Given the description of an element on the screen output the (x, y) to click on. 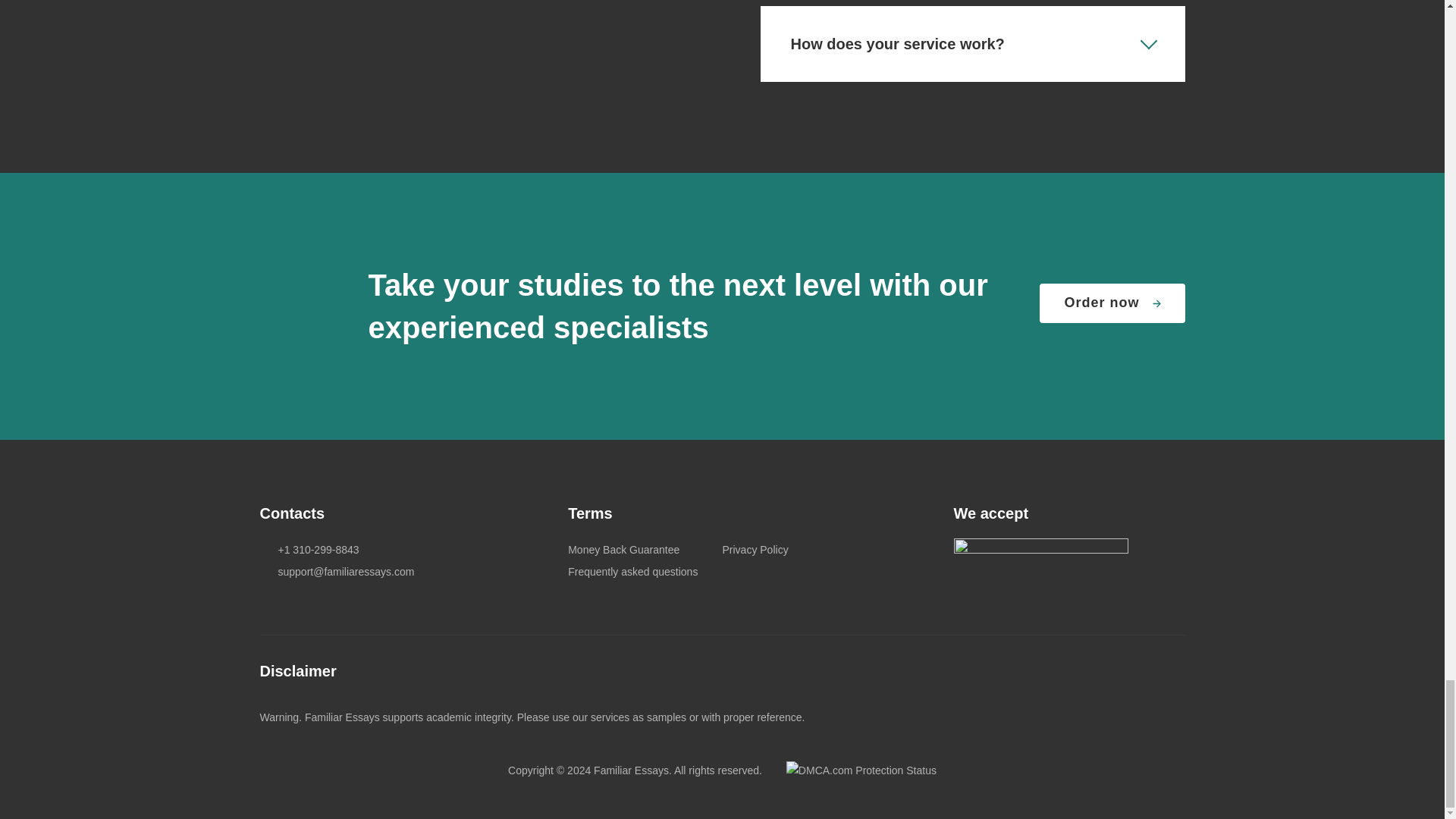
Privacy Policy (754, 549)
Money Back Guarantee (623, 549)
Frequently asked questions (632, 571)
Order now (1112, 302)
